Given the description of an element on the screen output the (x, y) to click on. 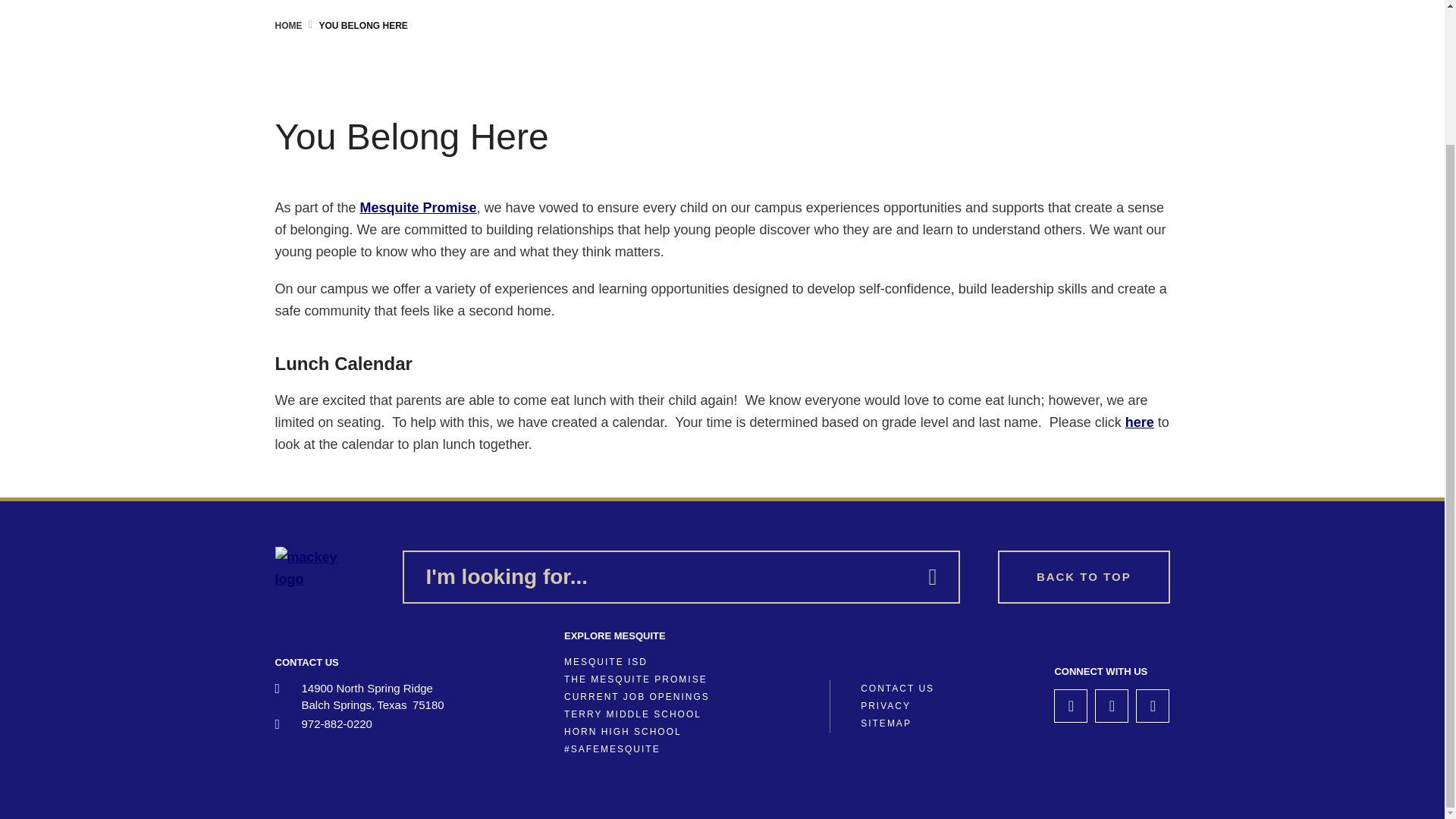
Lunch Schedule (1139, 421)
